Given the description of an element on the screen output the (x, y) to click on. 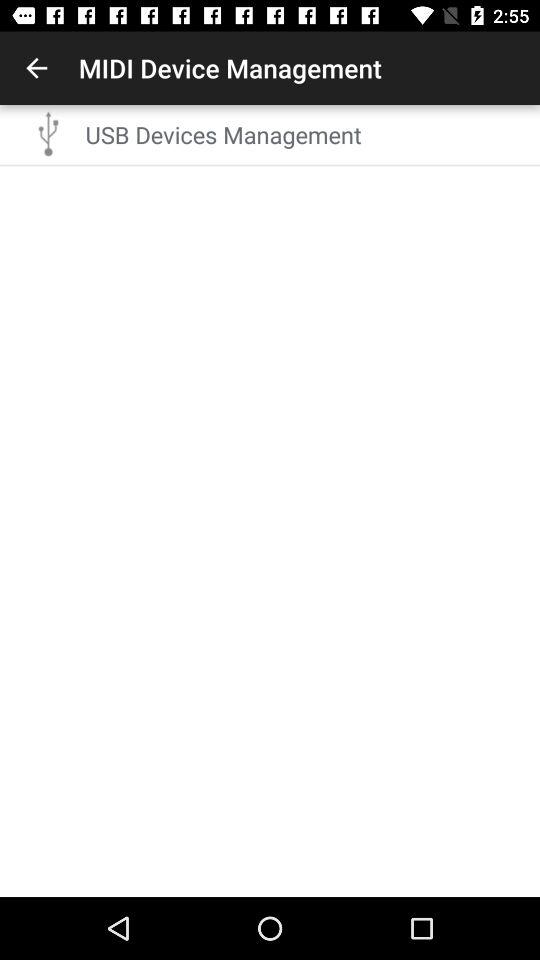
press app to the left of midi device management item (36, 68)
